Given the description of an element on the screen output the (x, y) to click on. 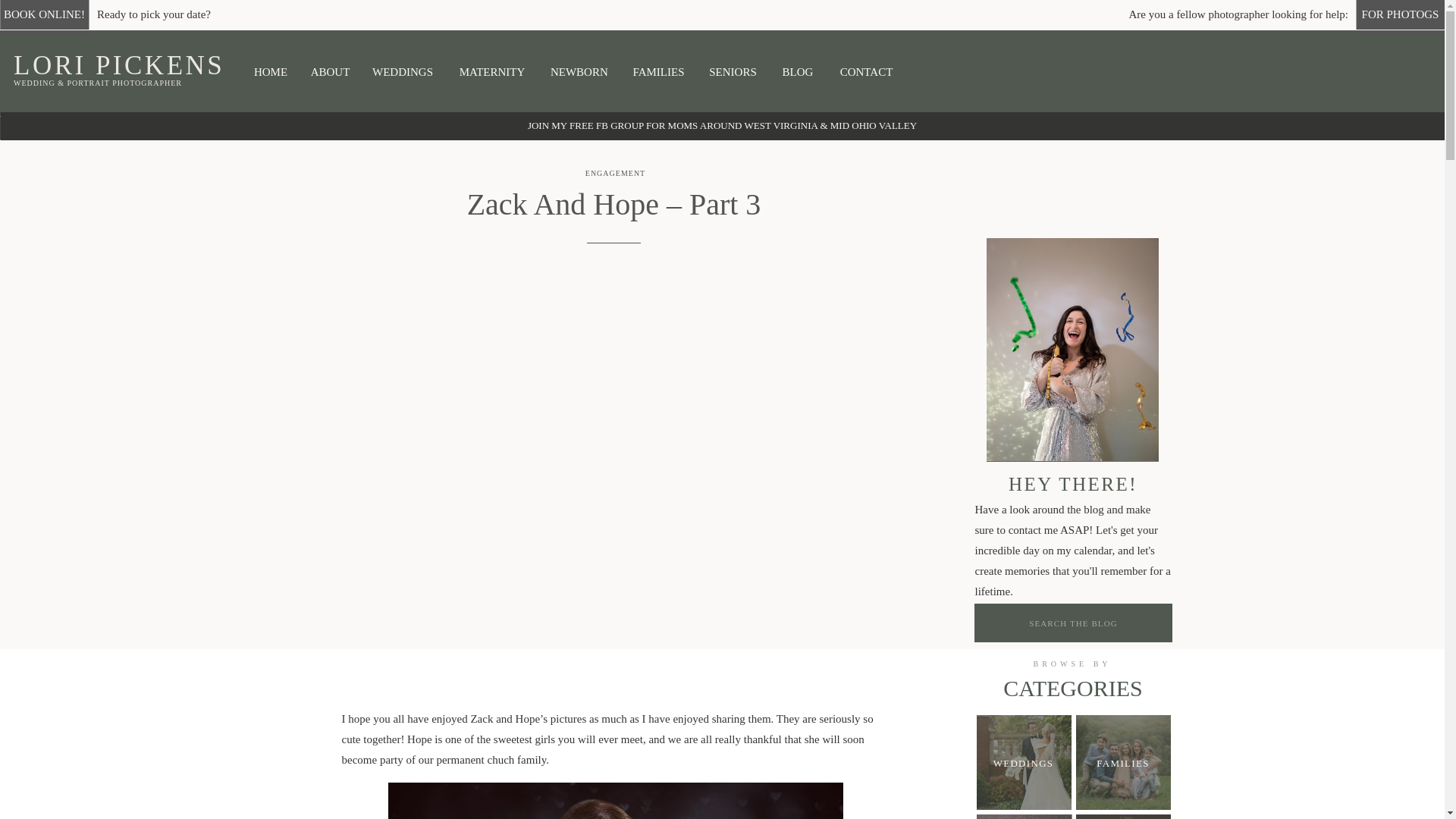
WEDDINGS (1023, 762)
BOOK ONLINE! (44, 13)
WEDDINGS (402, 72)
FAMILIES (1123, 763)
 NEWBORN (577, 72)
LORI PICKENS (130, 64)
CONTACT (865, 71)
Ready to pick your date?  (158, 13)
ENGAGEMENT (615, 172)
MATERNITY (491, 72)
ABOUT (330, 71)
HOME (270, 72)
FAMILIES (658, 72)
SENIORS (732, 72)
BLOG (797, 71)
